Given the description of an element on the screen output the (x, y) to click on. 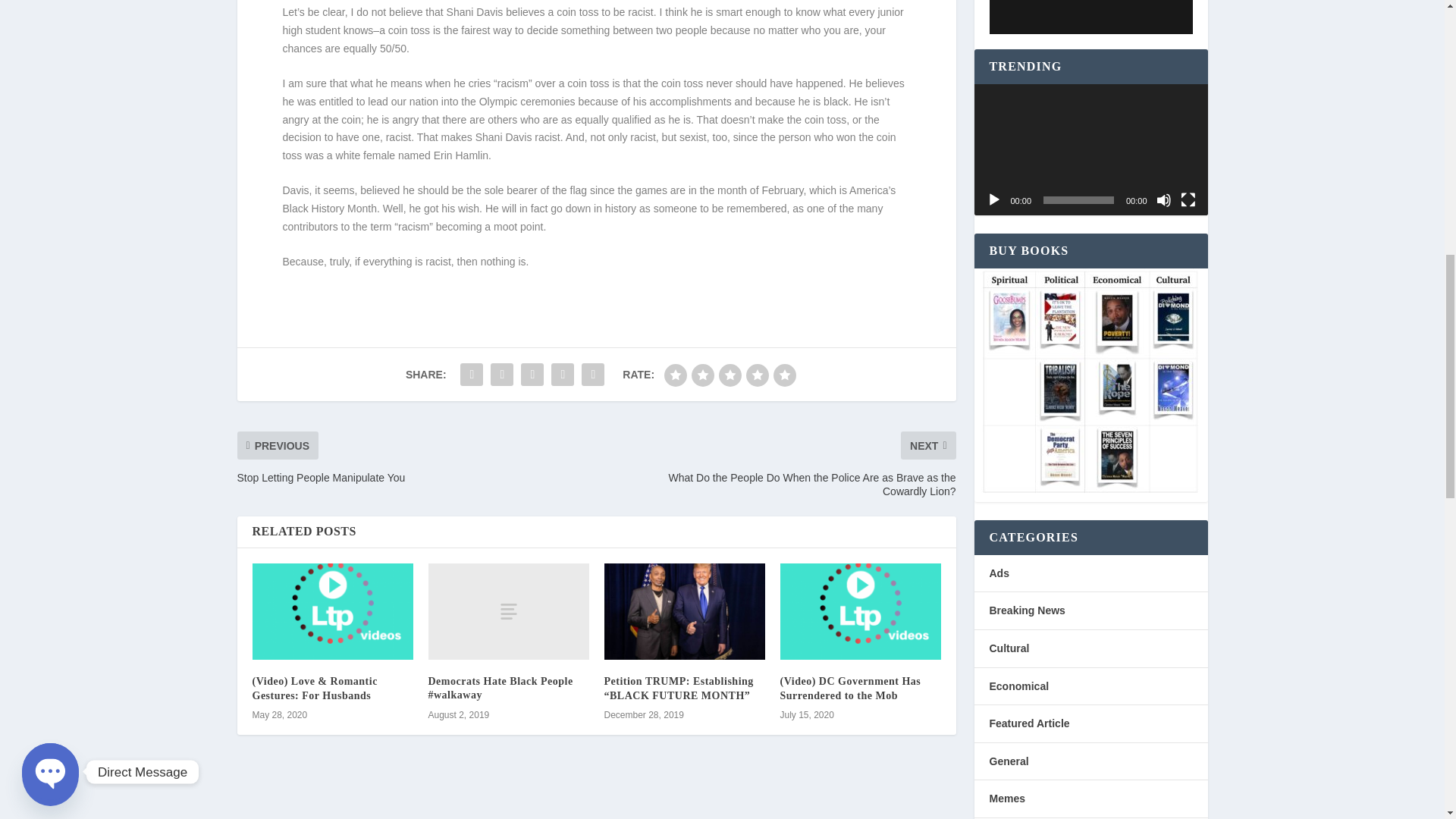
poor (702, 374)
Share "Nothing Is Racist Anymore" via LinkedIn (562, 374)
Share "Nothing Is Racist Anymore" via Email (593, 374)
good (756, 374)
regular (730, 374)
Share "Nothing Is Racist Anymore" via Facebook (471, 374)
bad (675, 374)
Share "Nothing Is Racist Anymore" via Tumblr (531, 374)
Share "Nothing Is Racist Anymore" via Twitter (501, 374)
gorgeous (784, 374)
